Given the description of an element on the screen output the (x, y) to click on. 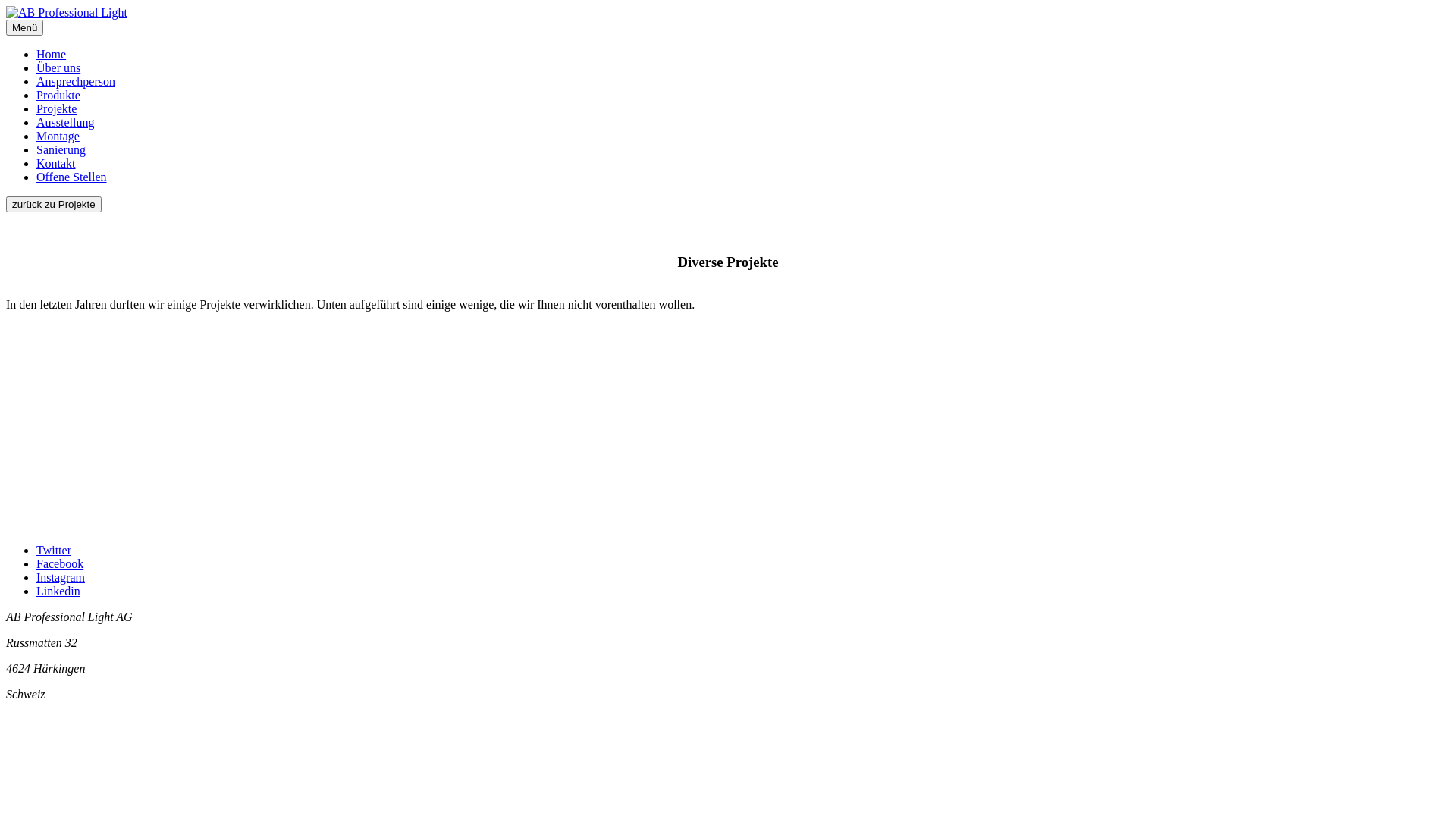
Sanierung Element type: text (60, 149)
Ausstellung Element type: text (65, 122)
Offene Stellen Element type: text (71, 176)
Kontakt Element type: text (55, 162)
Ansprechperson Element type: text (75, 81)
Home Element type: text (50, 53)
AB Professional Light Element type: hover (66, 12)
Twitter Element type: text (53, 549)
Produkte Element type: text (58, 94)
Instagram Element type: text (60, 577)
Linkedin Element type: text (58, 590)
Projekte Element type: text (56, 108)
Facebook Element type: text (59, 563)
Montage Element type: text (57, 135)
